Given the description of an element on the screen output the (x, y) to click on. 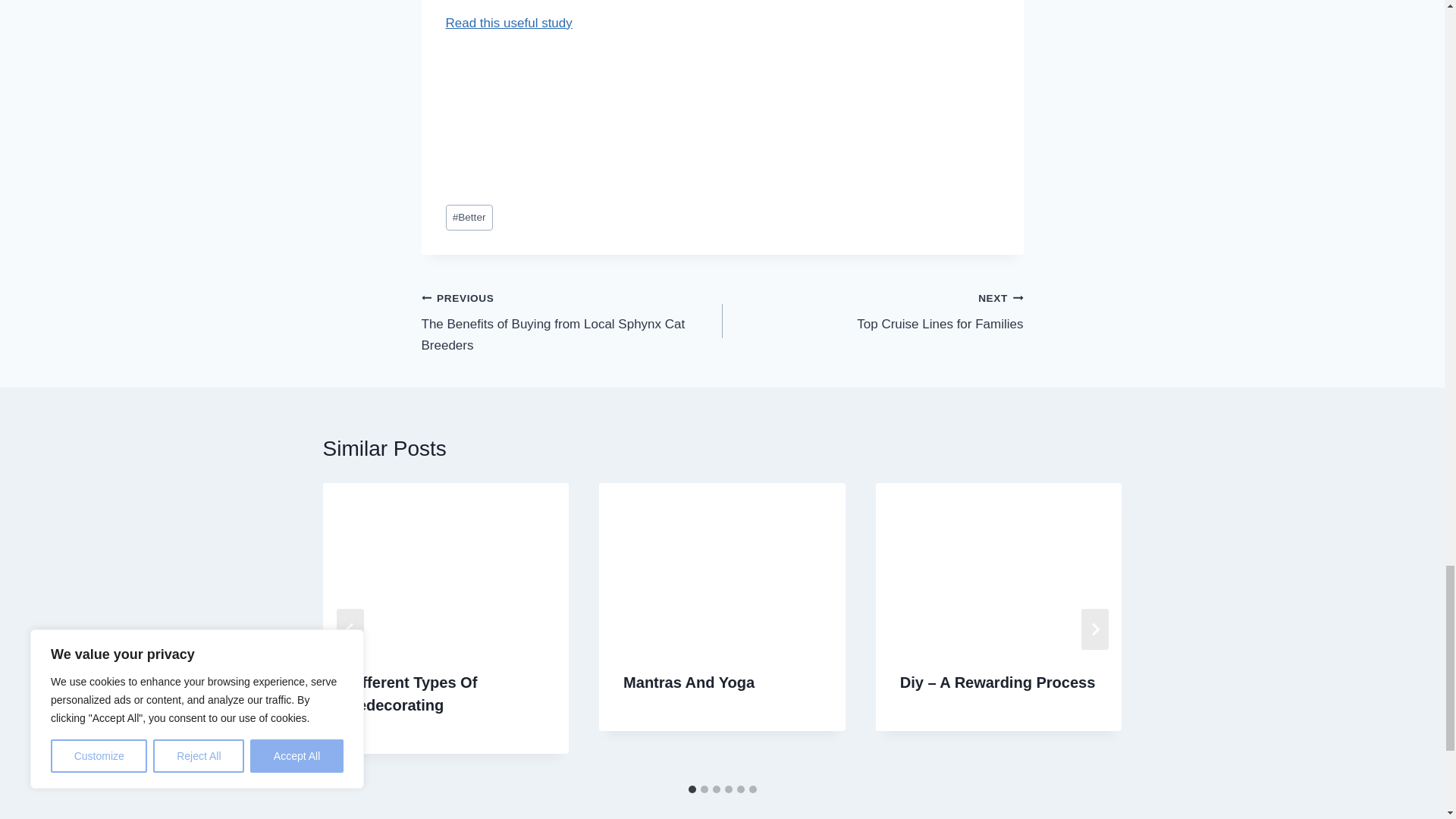
Read this useful study (508, 22)
Experience the Wonders of Nile River Cruises (872, 217)
Better (720, 599)
